Given the description of an element on the screen output the (x, y) to click on. 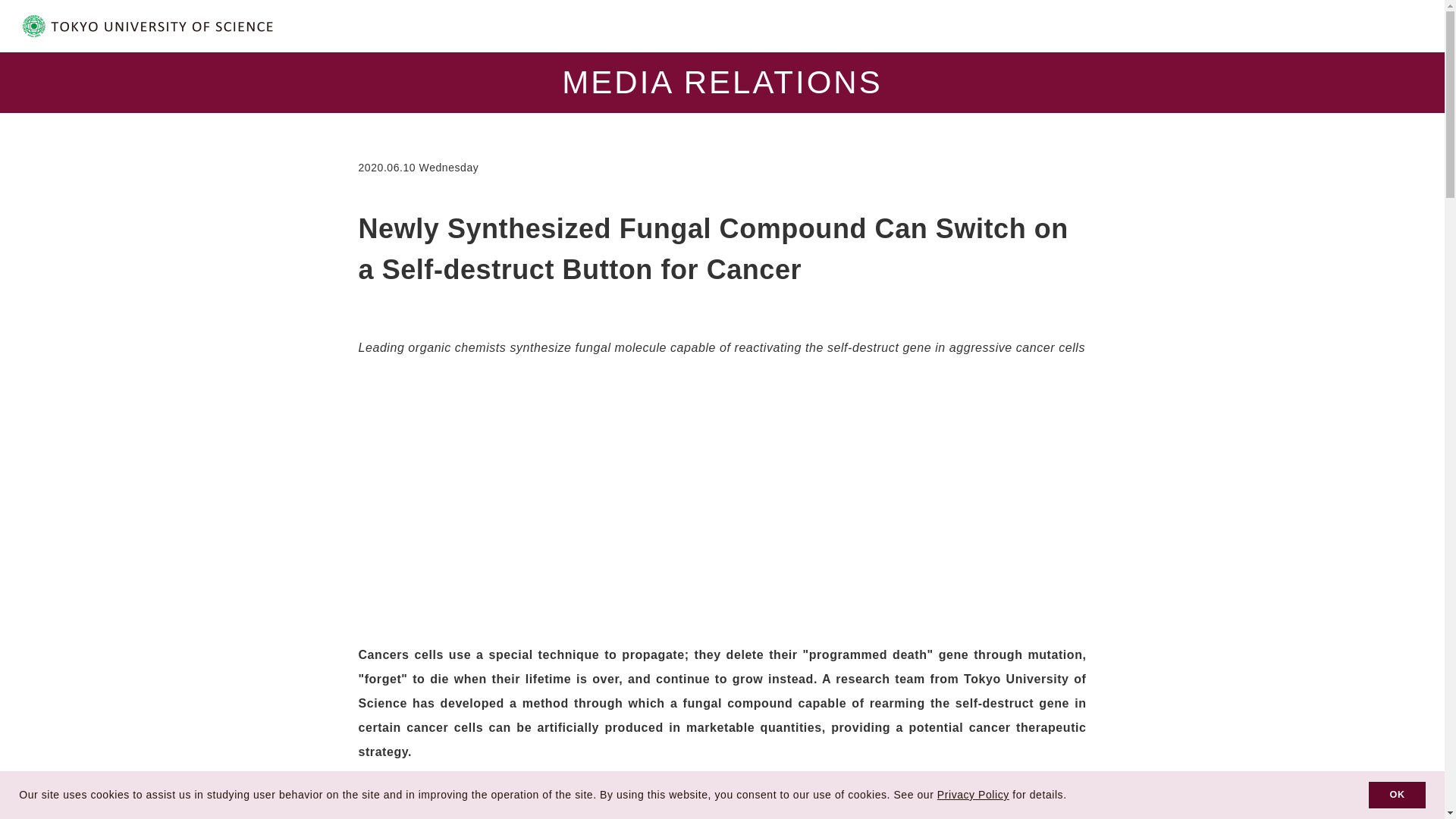
MEDIA RELATIONS (722, 82)
OK (1396, 795)
Privacy Policy (973, 795)
